Given the description of an element on the screen output the (x, y) to click on. 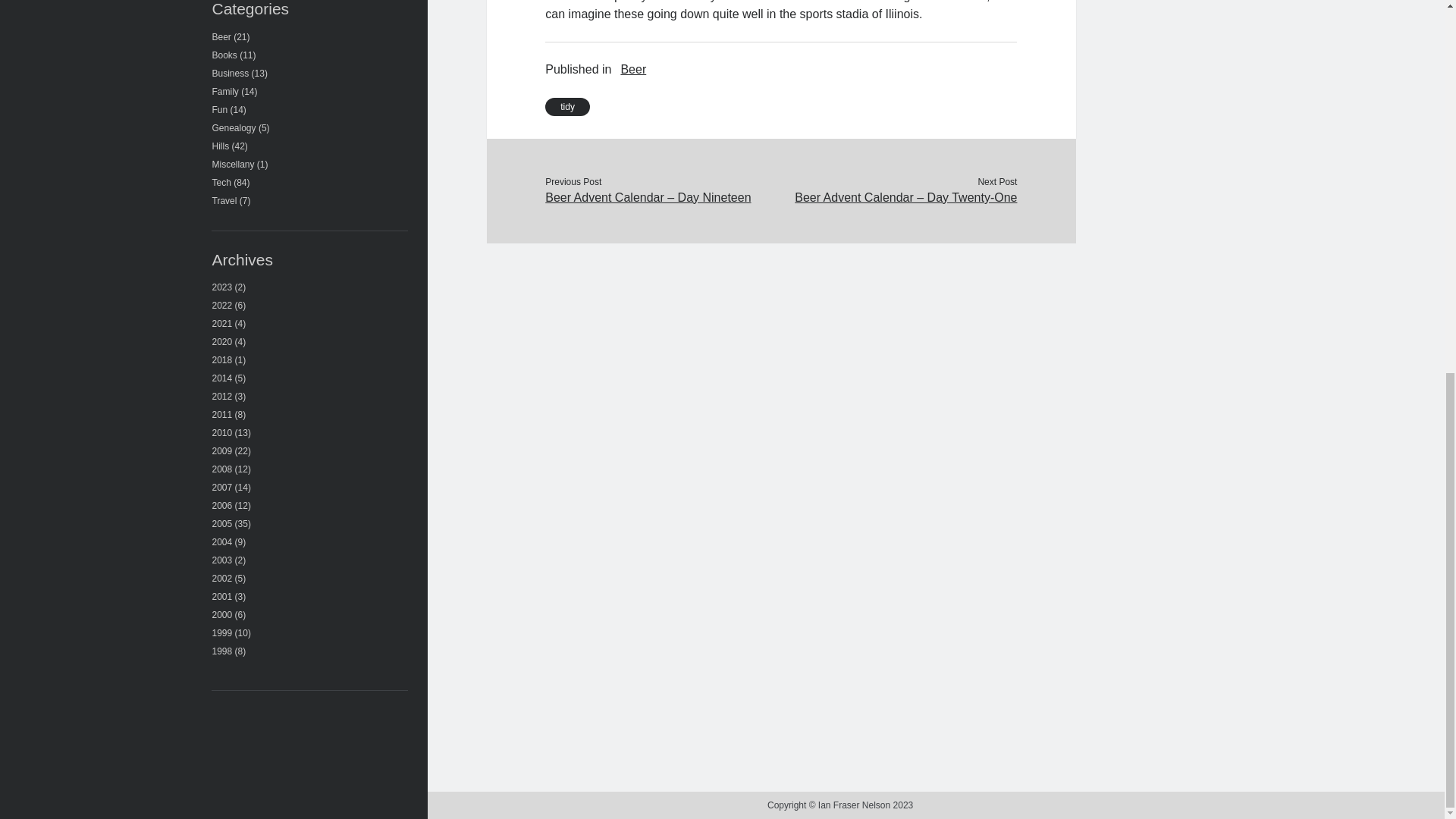
Tech (221, 182)
View all posts in Beer (633, 69)
Travel (224, 200)
2023 (222, 286)
2021 (222, 323)
Books (224, 54)
2022 (222, 305)
2018 (222, 359)
Business (230, 72)
2012 (222, 396)
View all posts tagged tidy (566, 106)
Family (225, 91)
Genealogy (234, 127)
Fun (220, 109)
2014 (222, 378)
